Given the description of an element on the screen output the (x, y) to click on. 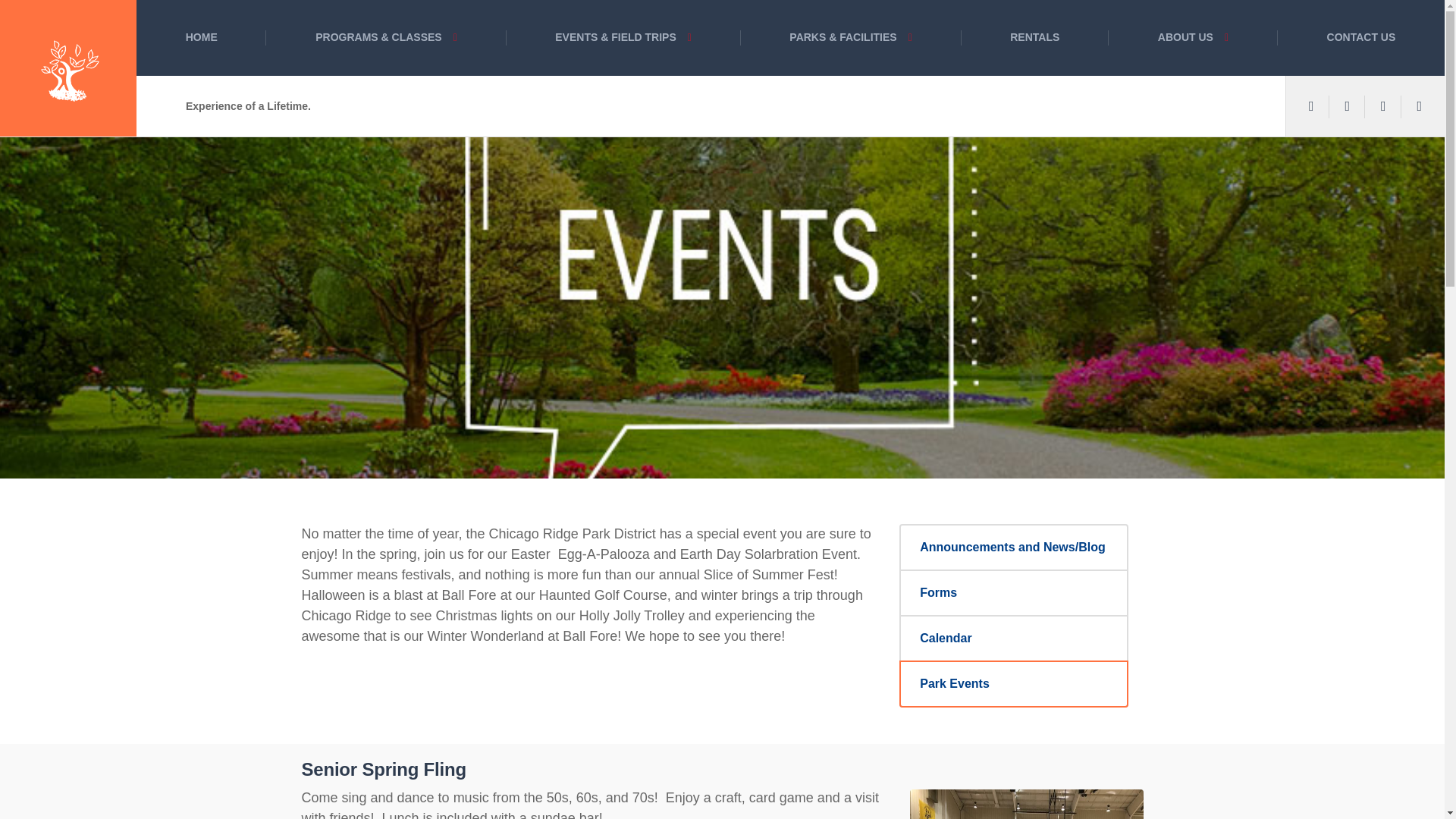
RENTALS (1034, 38)
ABOUT US (1193, 38)
HOME (201, 38)
